Given the description of an element on the screen output the (x, y) to click on. 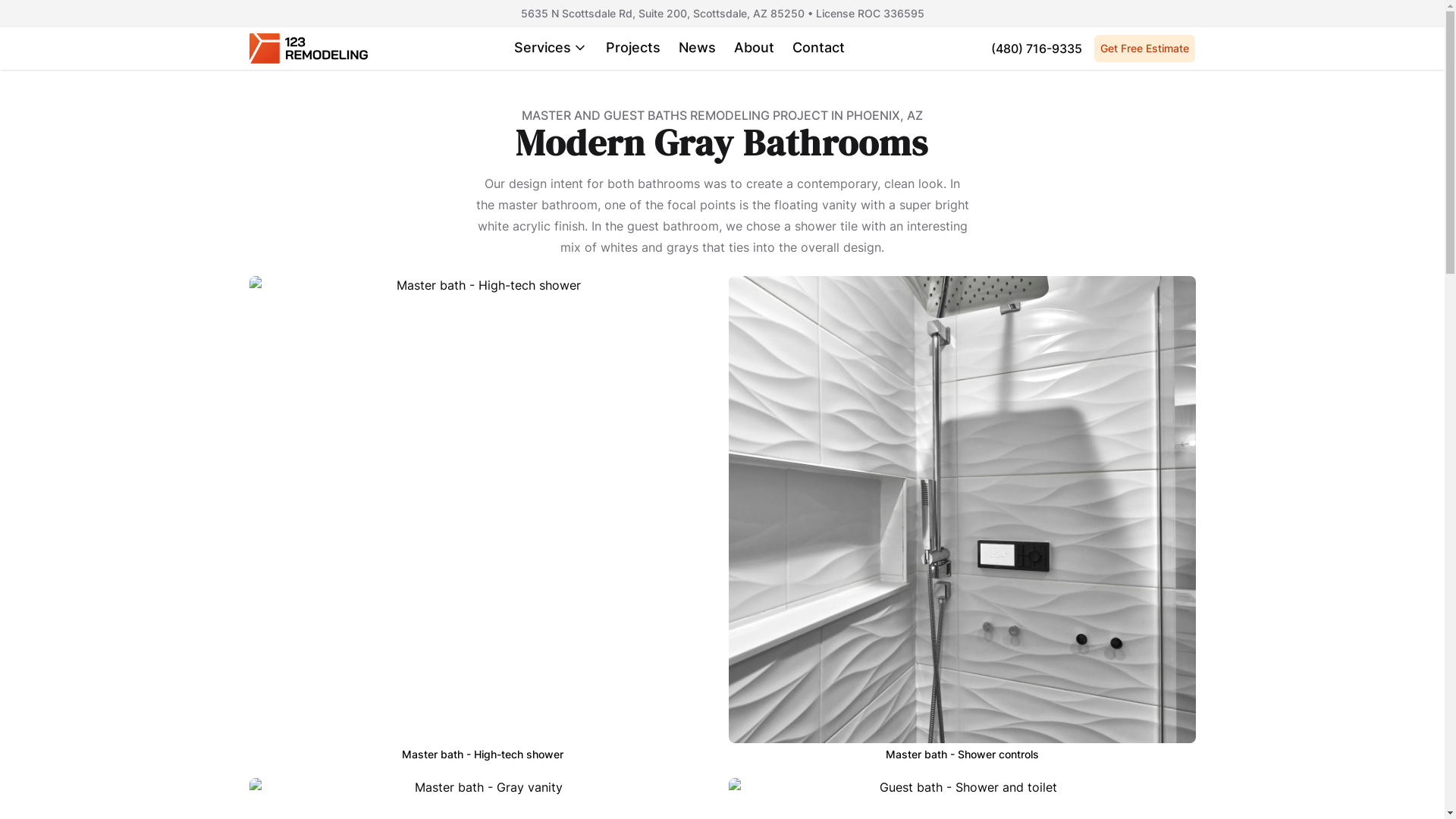
Projects Element type: text (632, 48)
Services Element type: text (550, 48)
News Element type: text (696, 48)
(480) 716-9335 Element type: text (1036, 48)
Master bath - Shower controls Element type: text (961, 520)
Get Free Estimate Element type: text (1144, 48)
Master bath - High-tech shower Element type: text (481, 520)
Contact Element type: text (818, 48)
About Element type: text (754, 48)
